Given the description of an element on the screen output the (x, y) to click on. 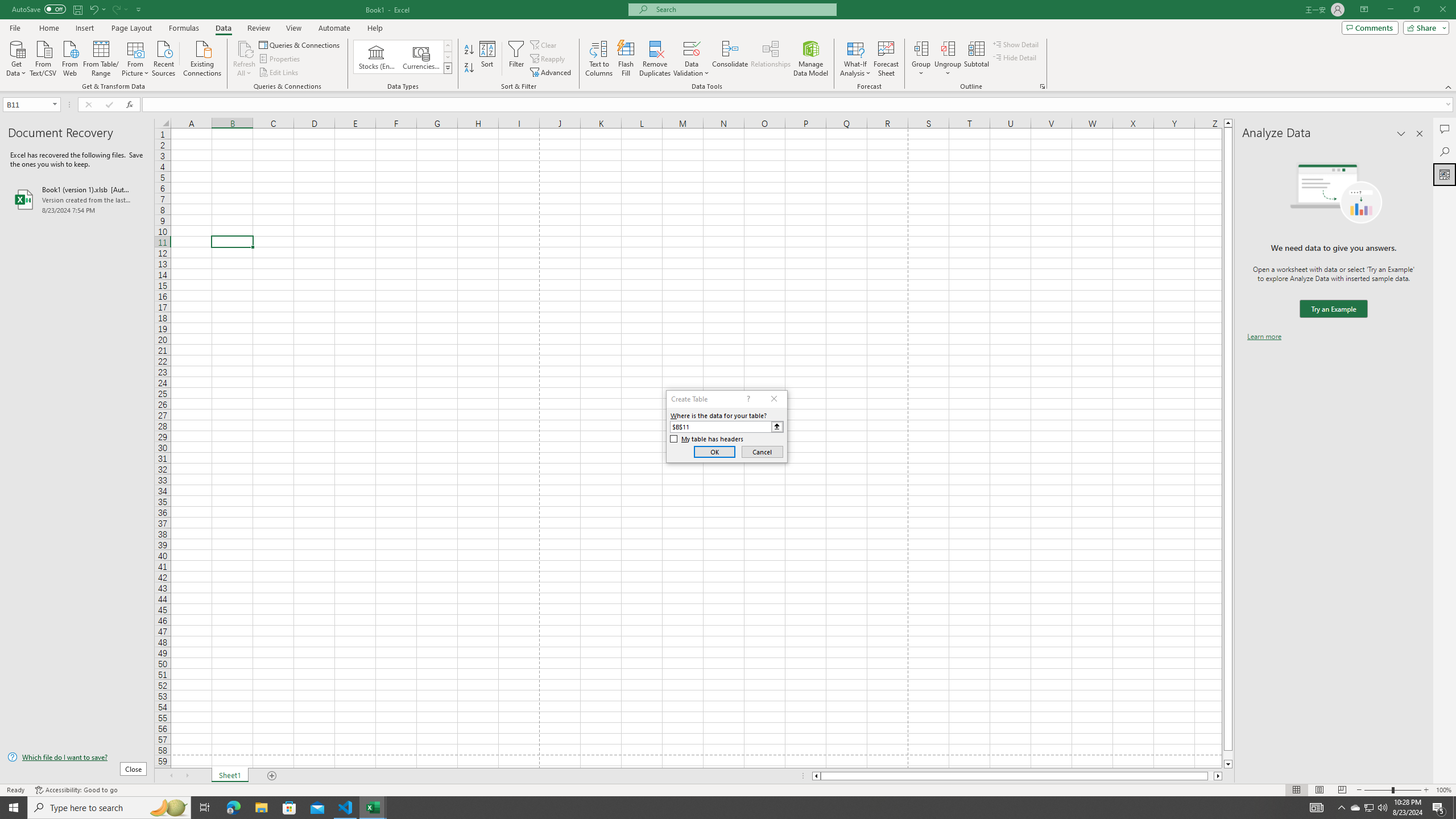
Filter (515, 58)
AutomationID: ConvertToLinkedEntity (403, 56)
Sort... (487, 58)
Sort A to Z (469, 49)
Currencies (English) (420, 56)
Flash Fill (625, 58)
Show Detail (1016, 44)
From Table/Range (100, 57)
